Given the description of an element on the screen output the (x, y) to click on. 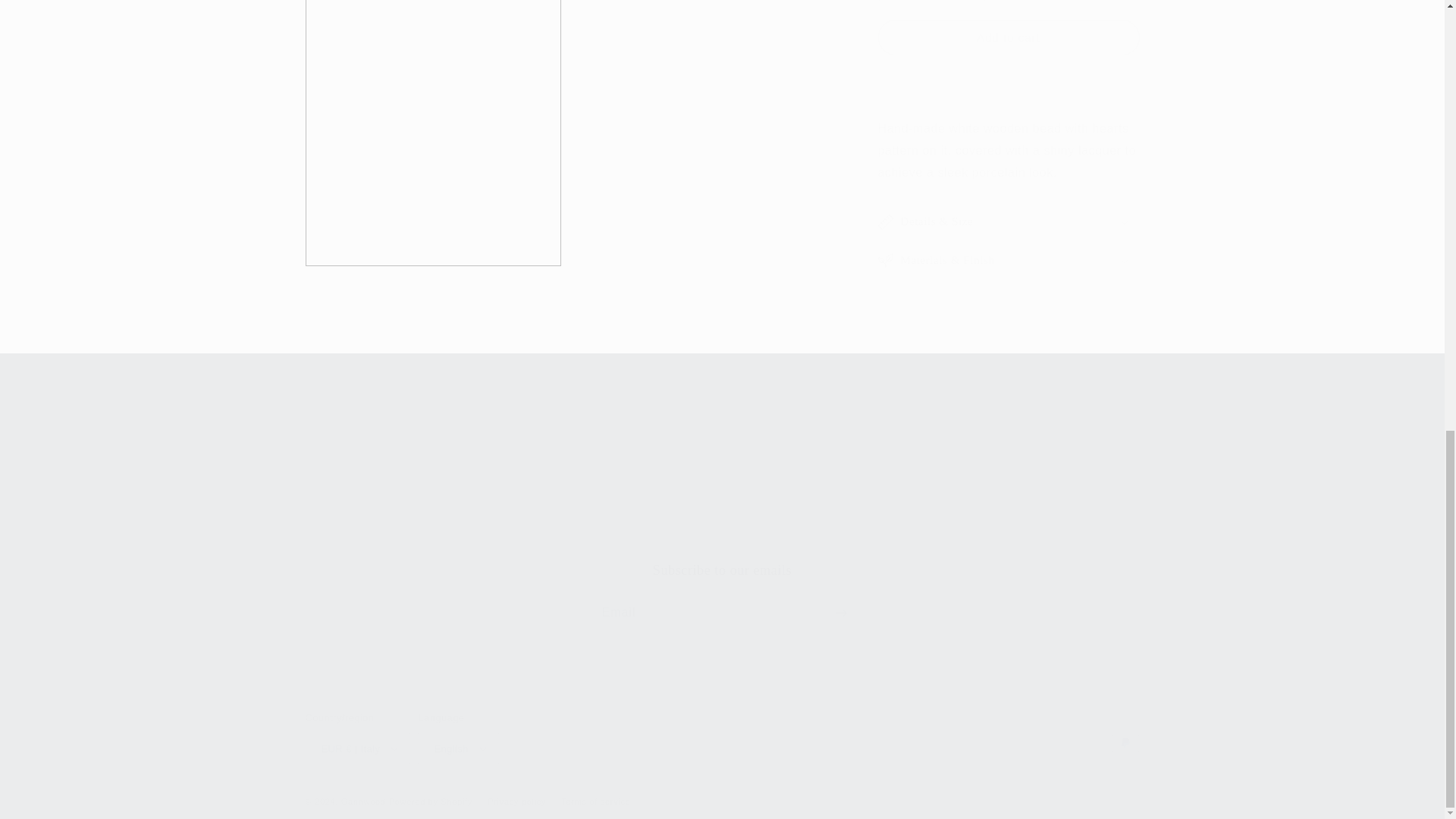
Open media 2 in modal (505, 485)
